Given the description of an element on the screen output the (x, y) to click on. 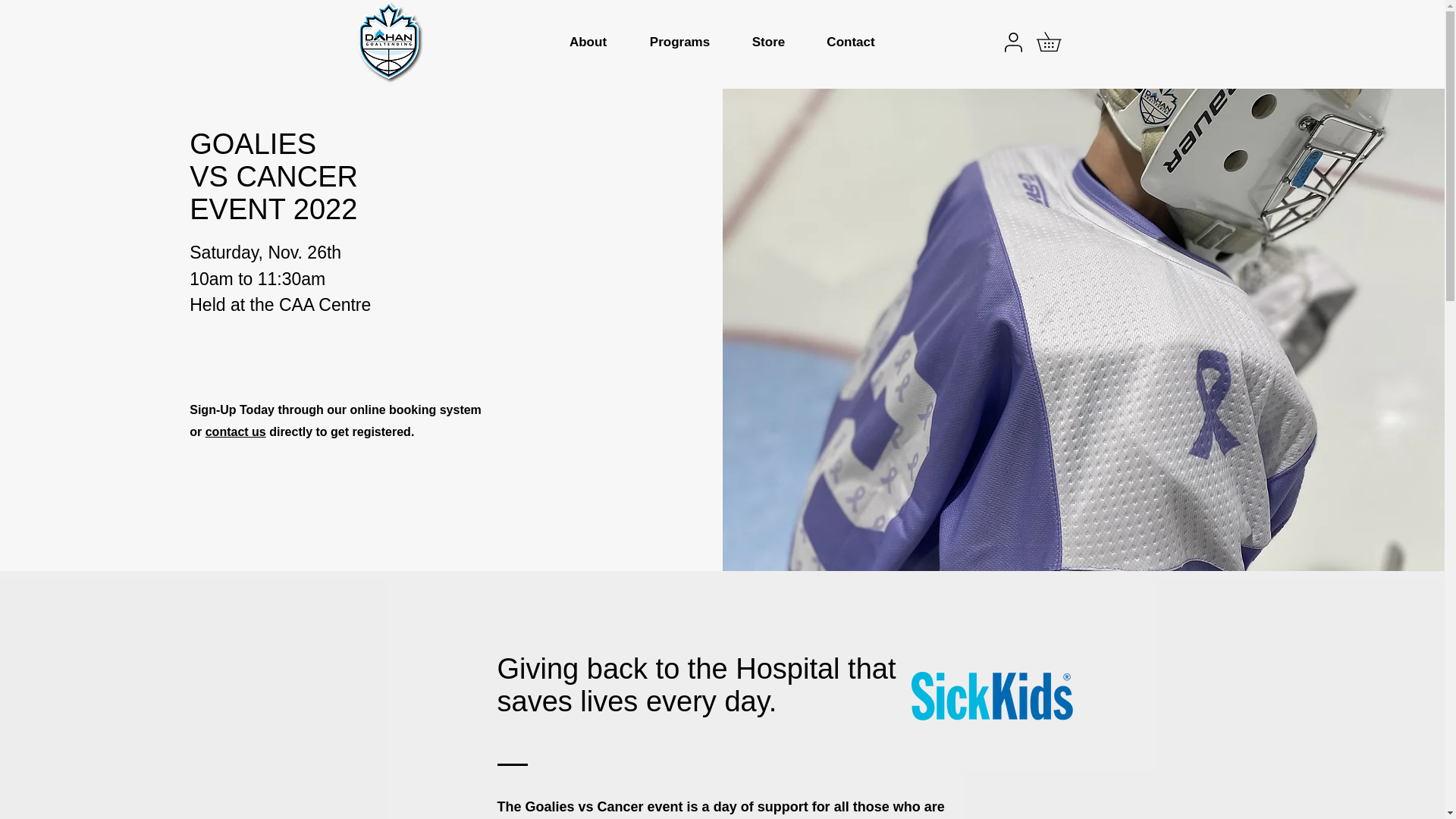
Programs (678, 42)
About (587, 42)
Contact (850, 42)
Store (767, 42)
contact us (235, 431)
